Given the description of an element on the screen output the (x, y) to click on. 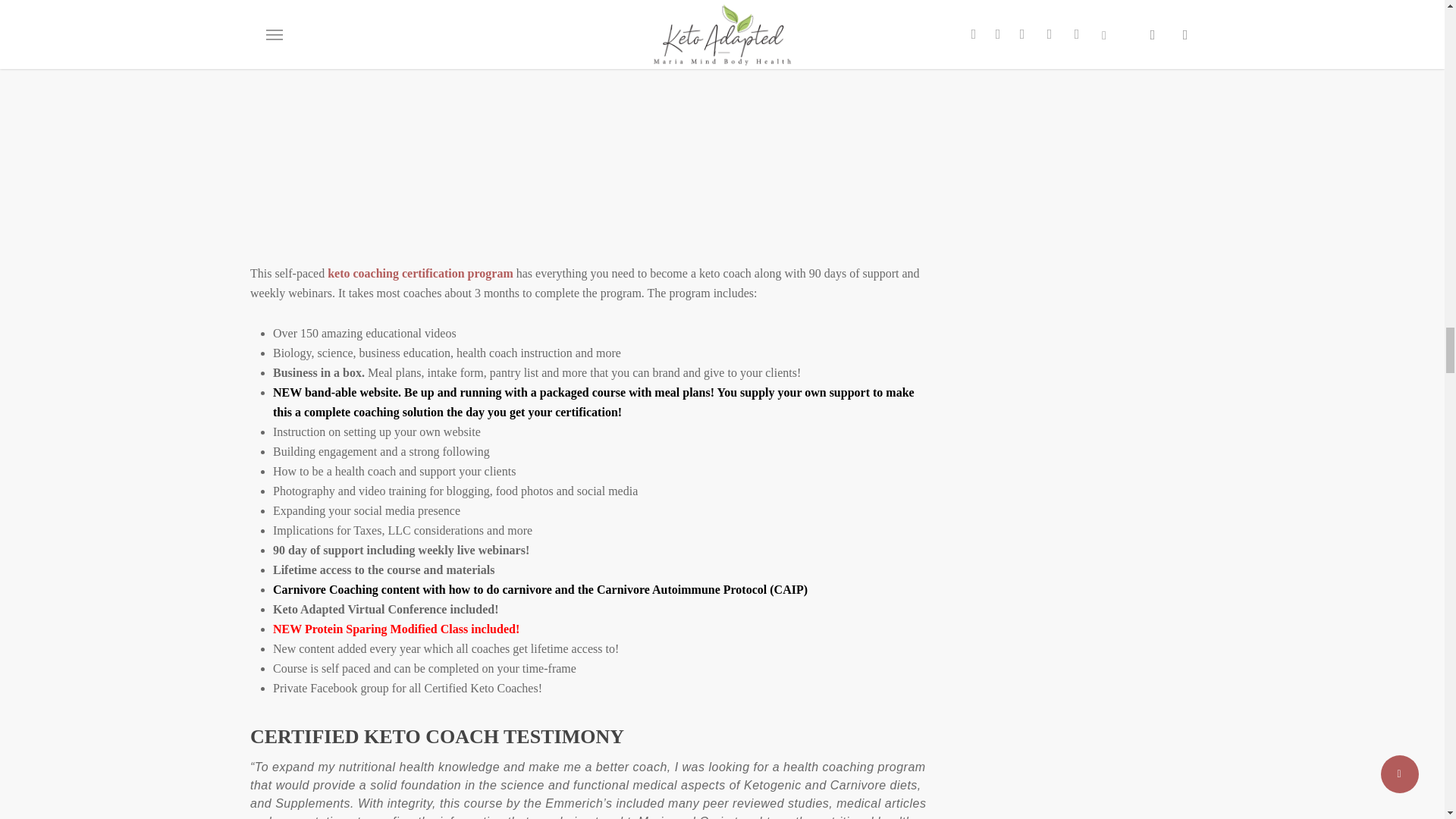
keto coaching certification program (420, 273)
